Given the description of an element on the screen output the (x, y) to click on. 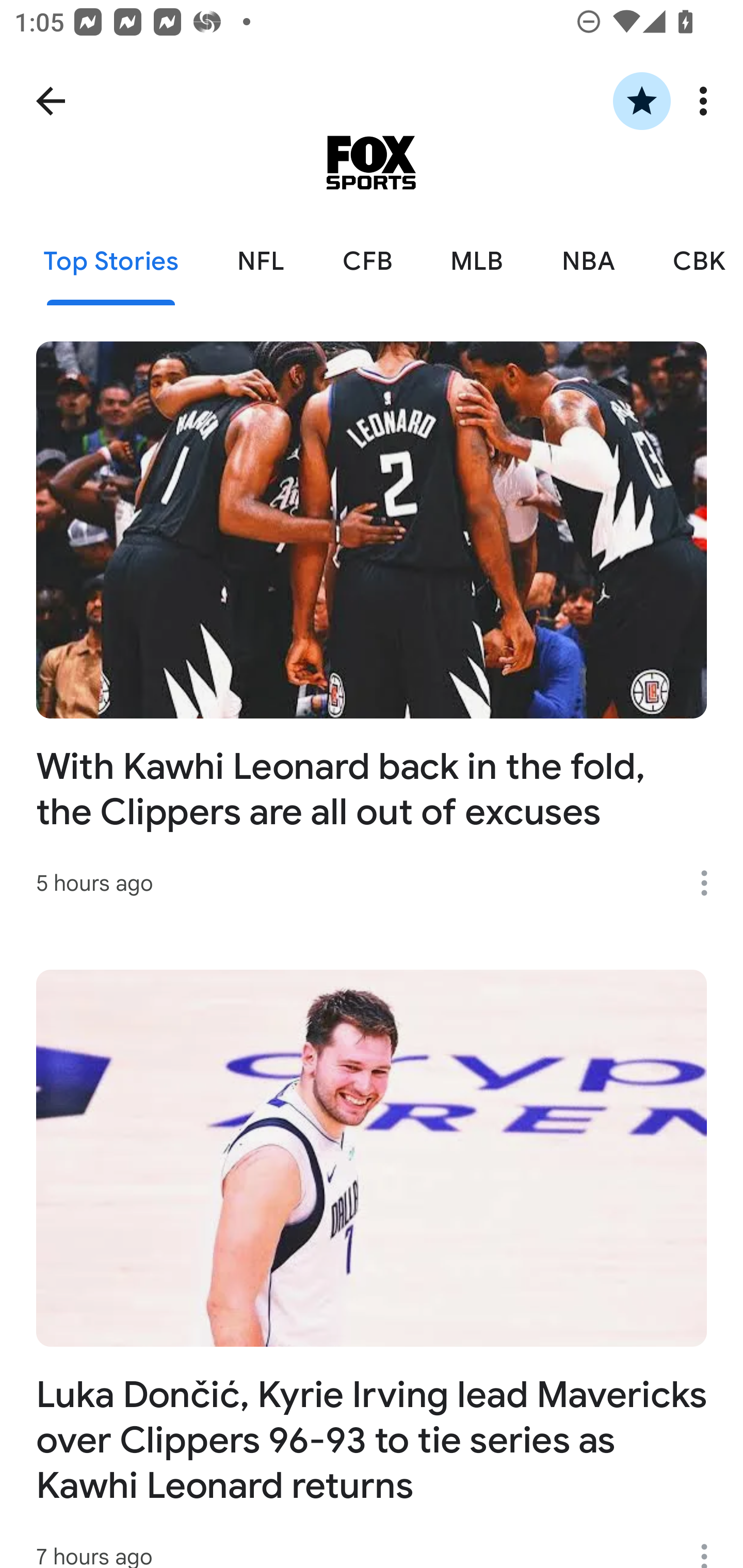
Navigate up (50, 101)
More options (706, 101)
NFL (260, 261)
CFB (367, 261)
MLB (476, 261)
NBA (588, 261)
CBK (693, 261)
More options (711, 882)
More options (711, 1546)
